Given the description of an element on the screen output the (x, y) to click on. 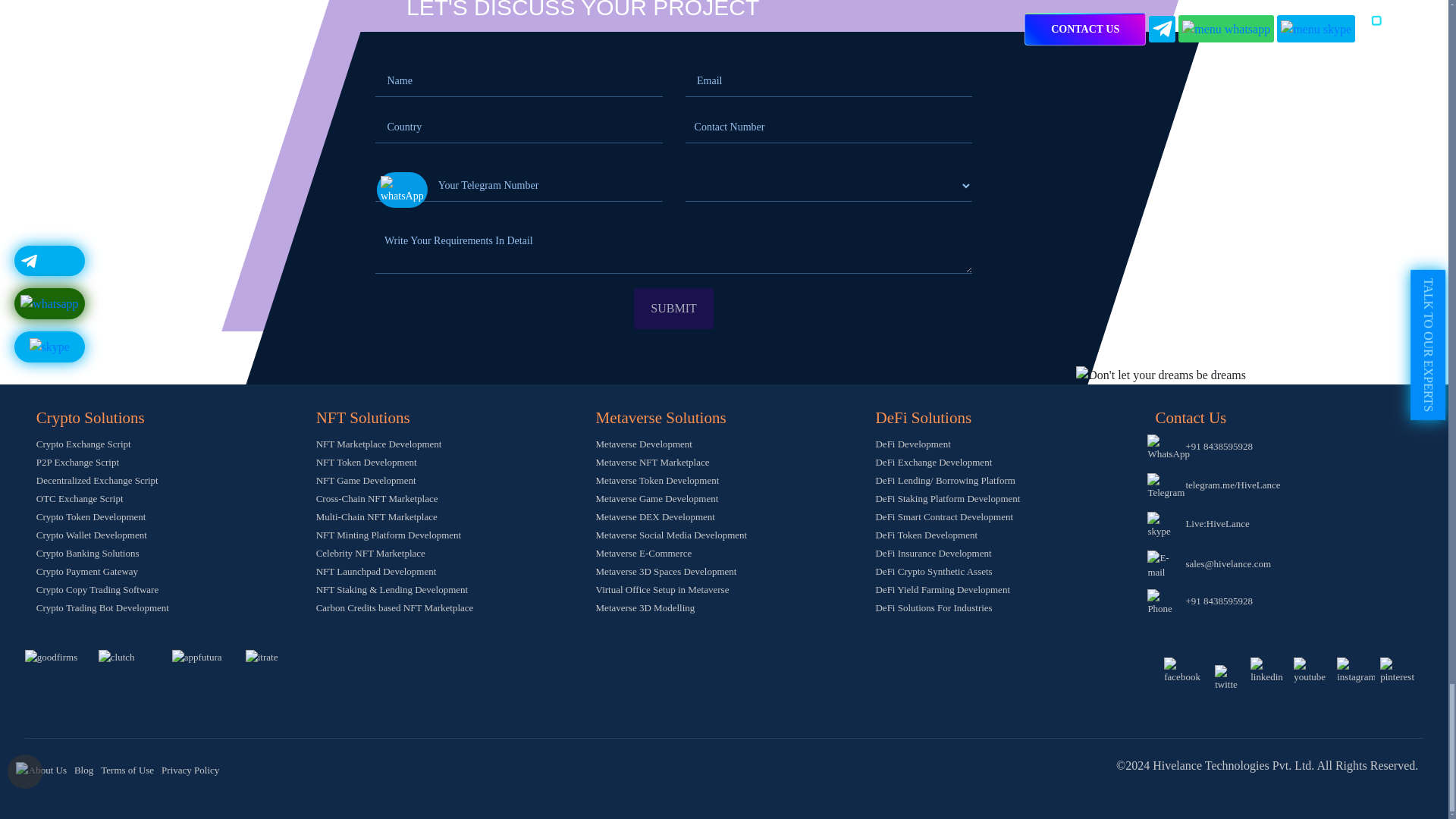
whatsApp (401, 189)
Telegram (1166, 486)
Don't let your dreams be dreams (1160, 375)
skype (1163, 524)
E-mail (1163, 564)
WhatsApp (1168, 447)
